Given the description of an element on the screen output the (x, y) to click on. 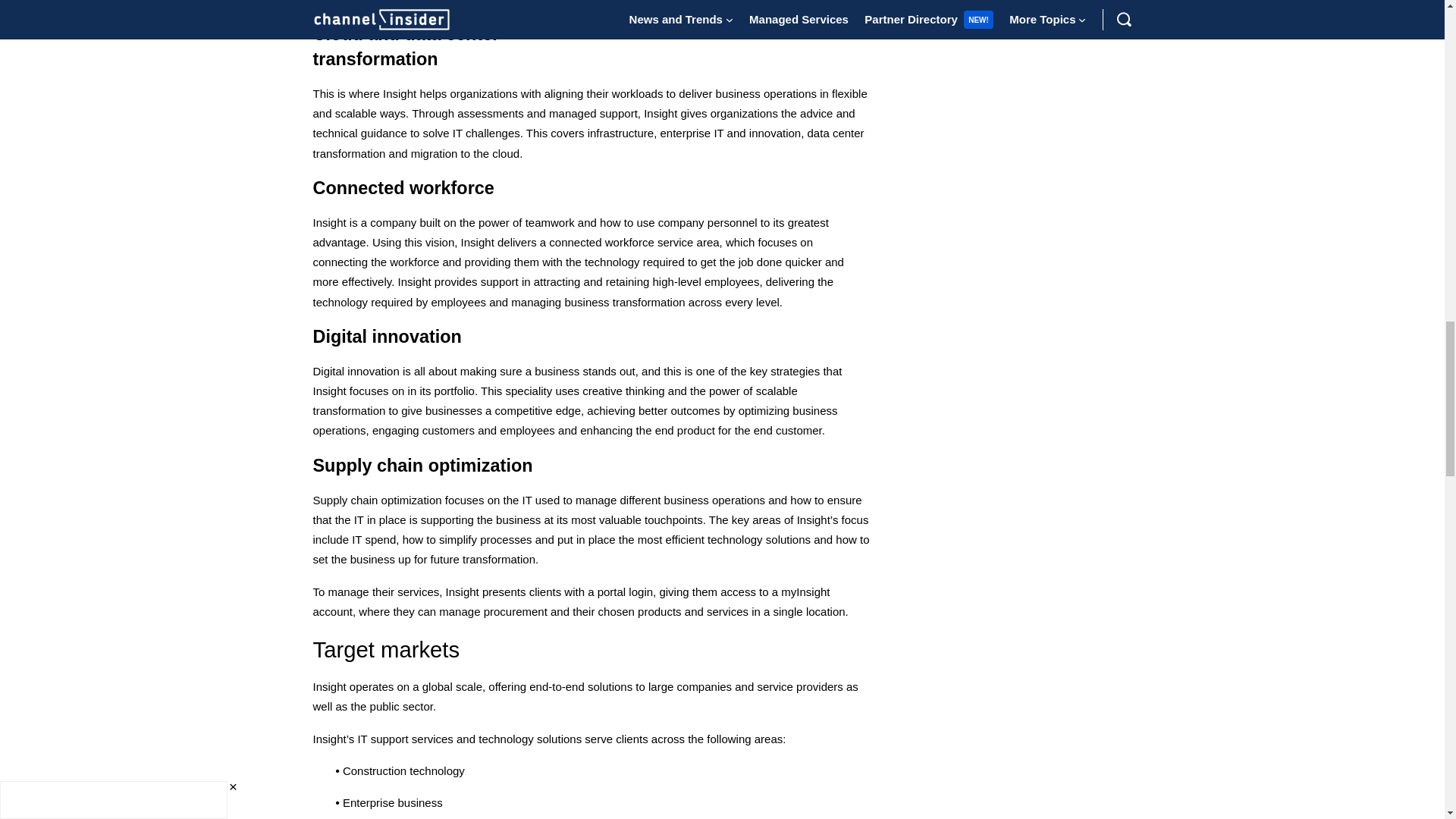
Insight Enterprises logo. Photo via fb.com. (739, 14)
